Given the description of an element on the screen output the (x, y) to click on. 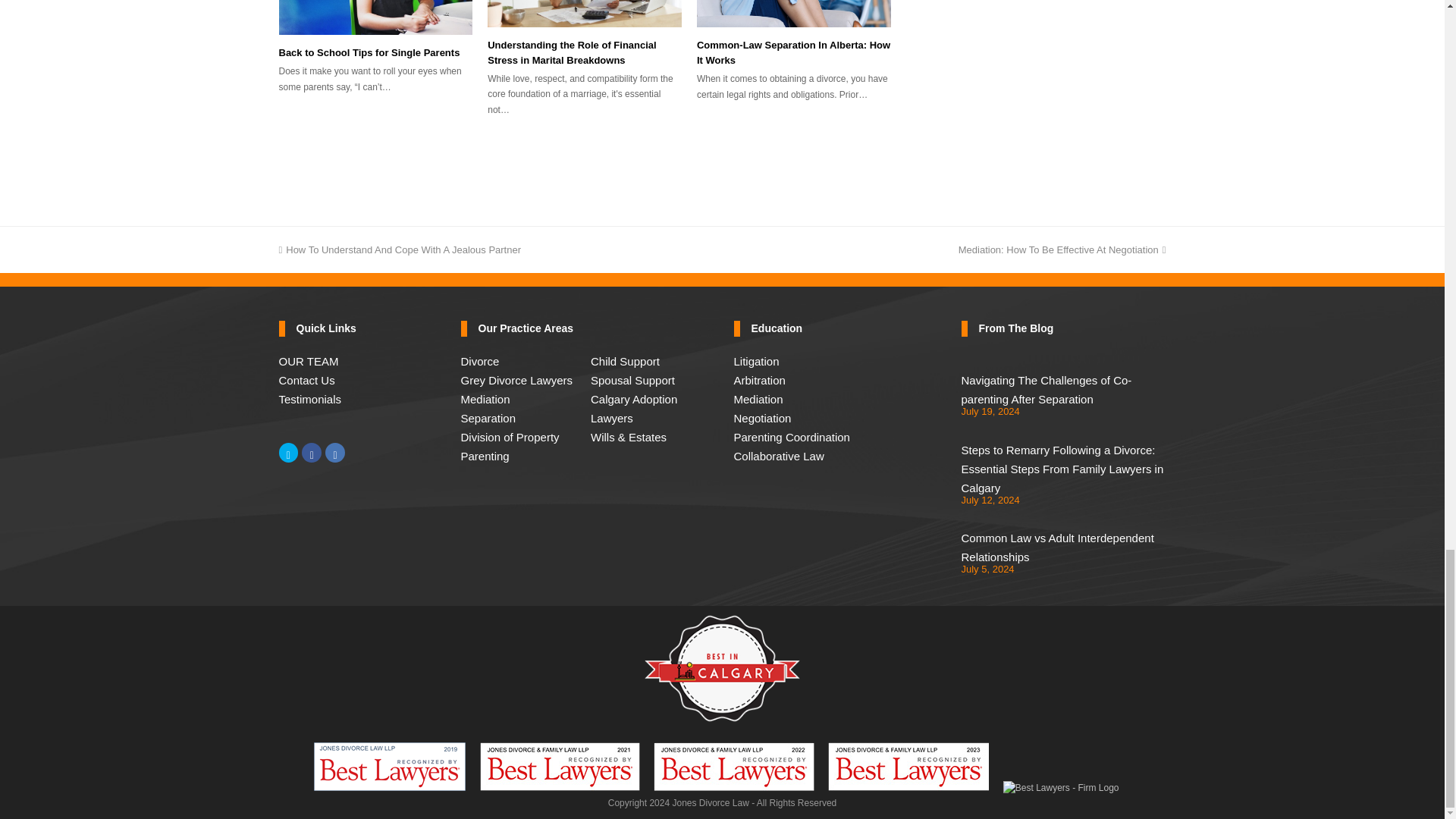
Twitter (288, 452)
Best Lawyers - Lawyer Logo (908, 766)
Common-Law Separation In Alberta: How It Works (794, 13)
Facebook (311, 452)
LinkedIn (334, 452)
Best Lawyers - Firm Logo (1061, 788)
Back to School Tips for Single Parents (376, 17)
